Given the description of an element on the screen output the (x, y) to click on. 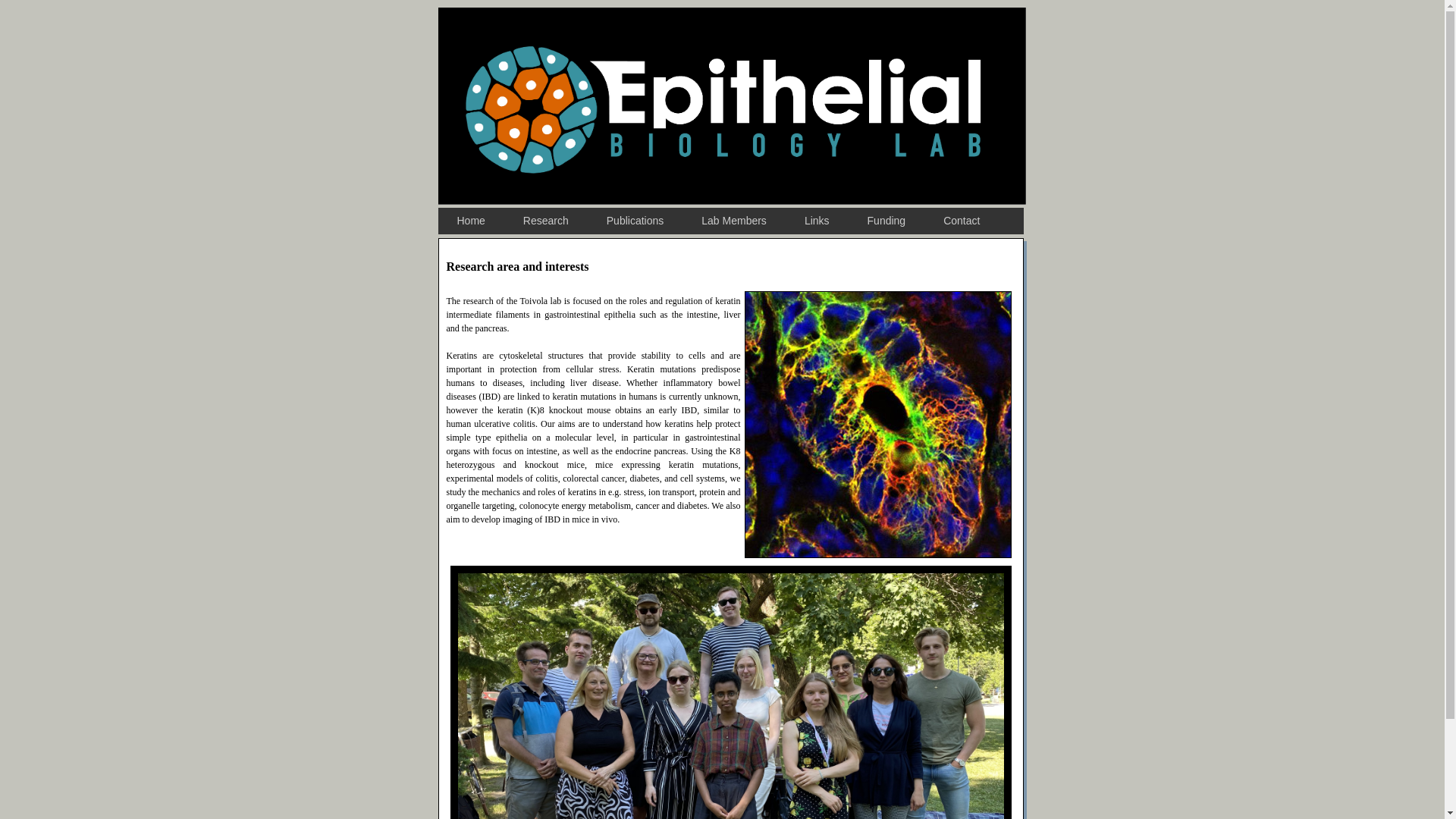
Research (545, 221)
Lab Members (734, 221)
Funding (886, 221)
Contact (961, 221)
Publications (635, 221)
Home (470, 221)
Links (817, 221)
